Given the description of an element on the screen output the (x, y) to click on. 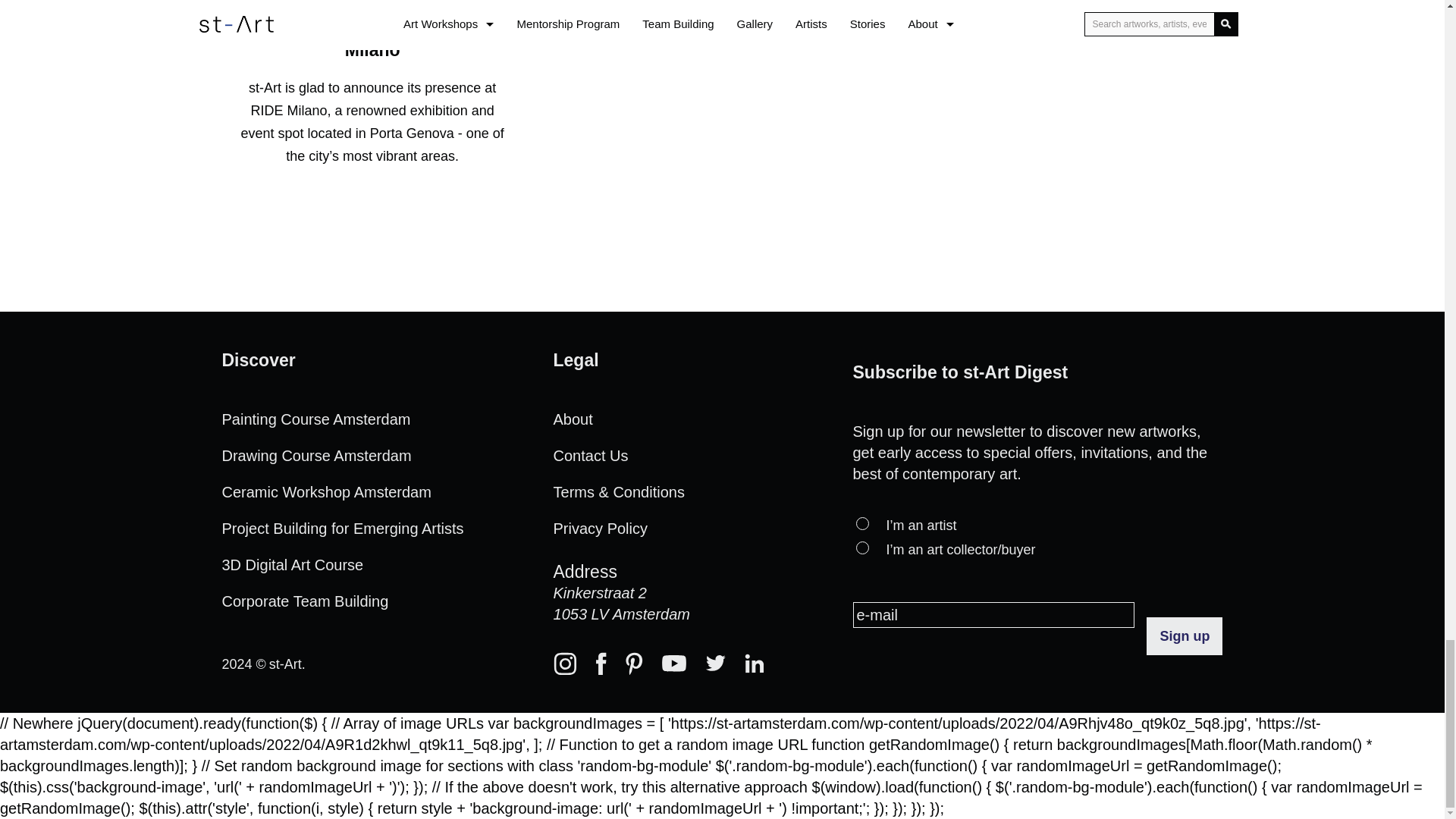
Sign up (1185, 635)
